Given the description of an element on the screen output the (x, y) to click on. 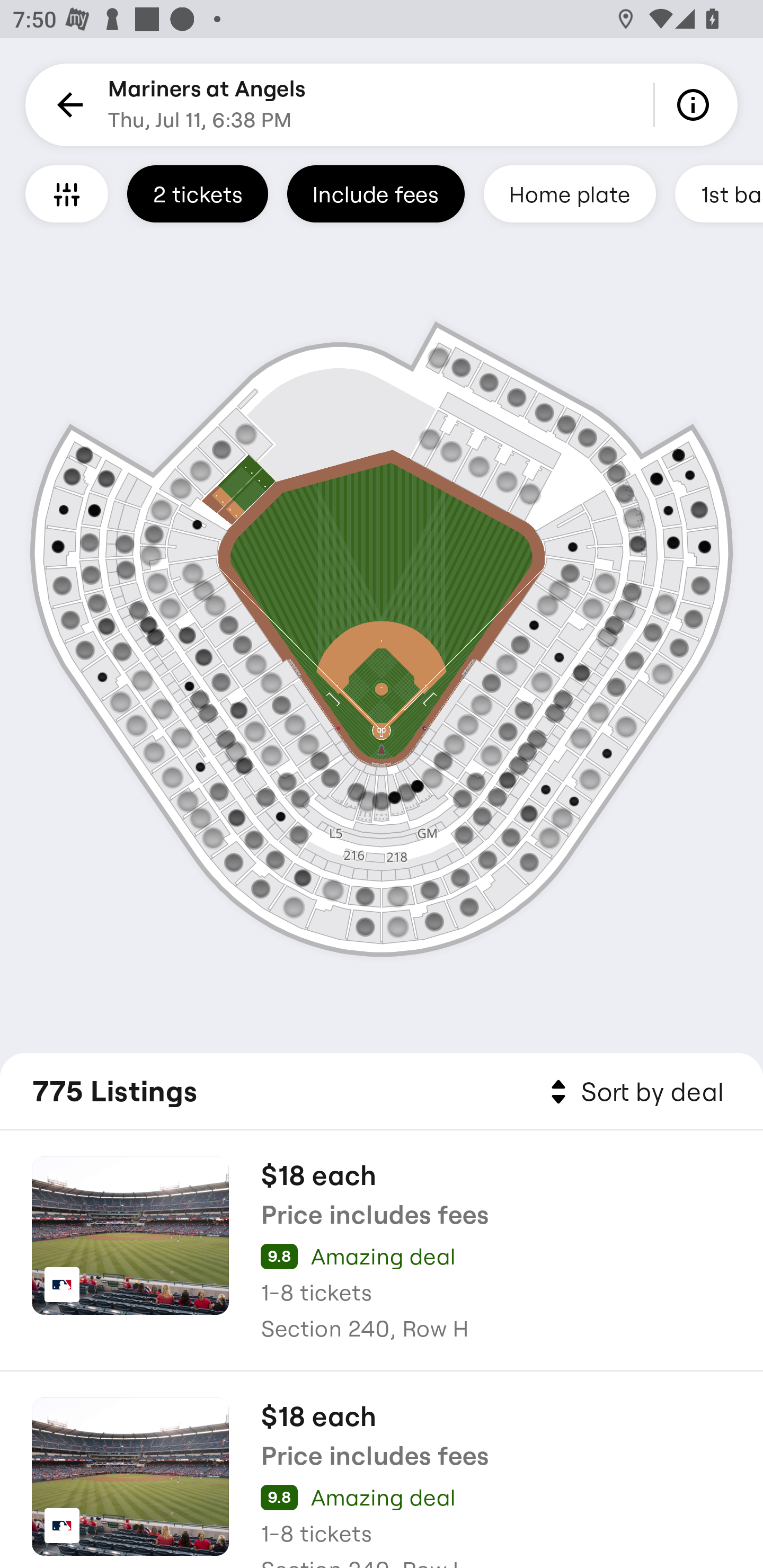
Back Mariners at Angels Thu, Jul 11, 6:38 PM Info (381, 104)
Back (66, 104)
Mariners at Angels Thu, Jul 11, 6:38 PM (206, 104)
Info (695, 104)
Filters and Accessible Seating (66, 193)
2 tickets (197, 193)
Include fees (375, 193)
Home plate (569, 193)
1st baseline (719, 193)
Sort by deal (633, 1091)
